Given the description of an element on the screen output the (x, y) to click on. 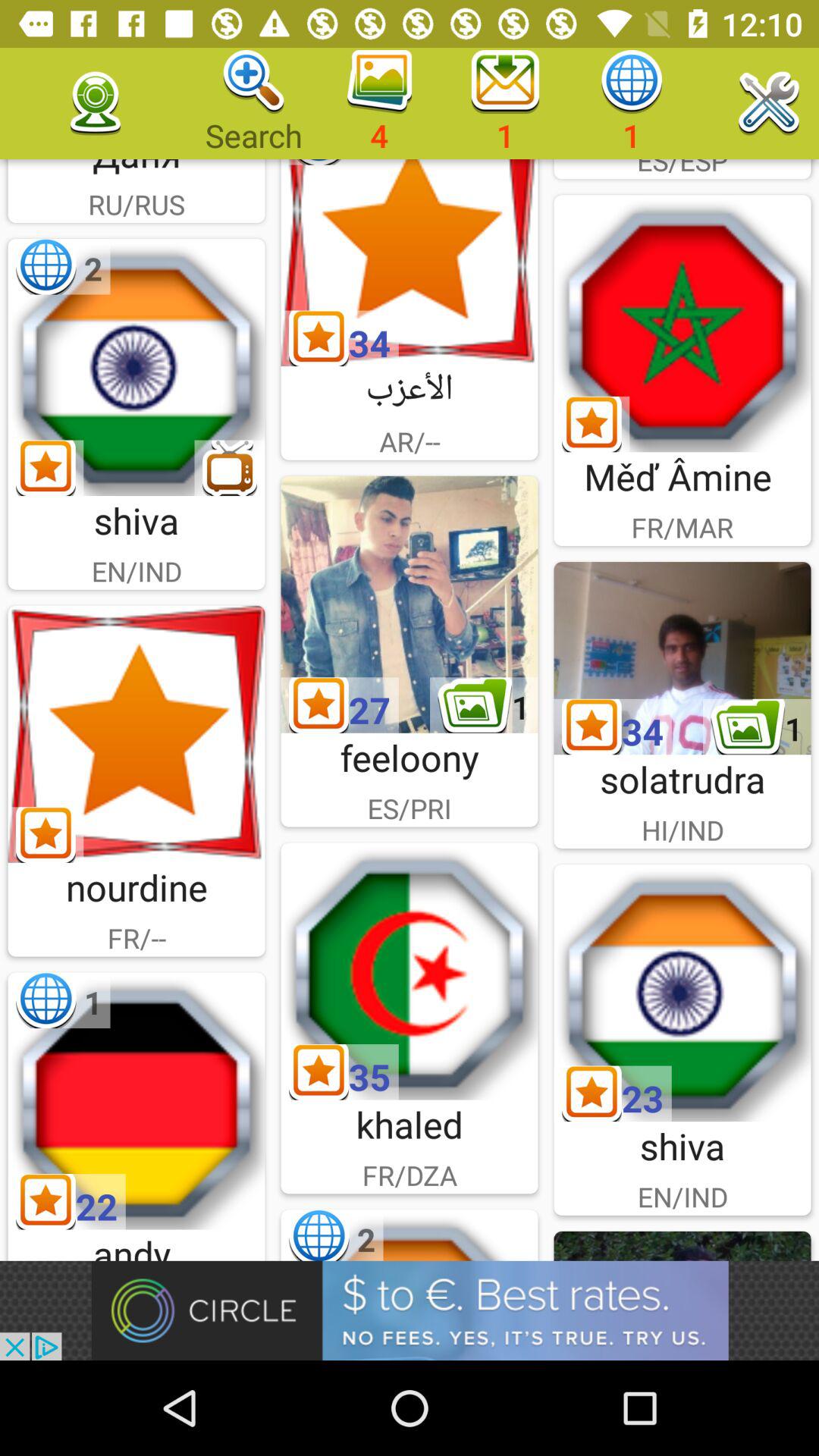
select user (409, 604)
